Given the description of an element on the screen output the (x, y) to click on. 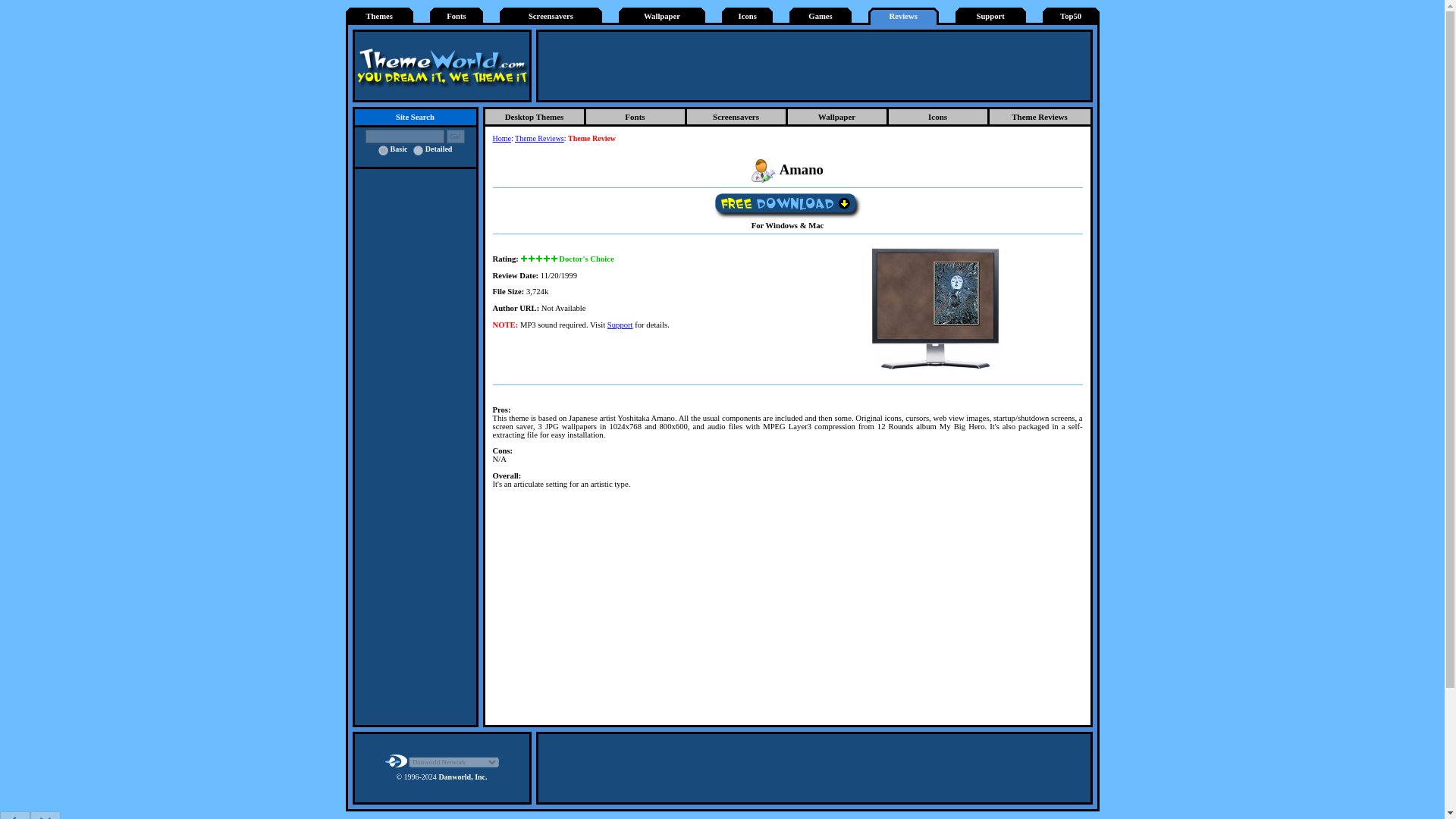
Themes (379, 16)
Fonts (455, 16)
Wallpaper (661, 16)
Advertisement (814, 767)
Go! (455, 136)
Icons (747, 16)
Support (989, 16)
Games (819, 16)
Advertisement (788, 611)
Go! (455, 136)
Screensavers (550, 16)
Top50 (1070, 16)
Advertisement (814, 65)
Desktop Themes (535, 117)
Reviews (903, 16)
